Given the description of an element on the screen output the (x, y) to click on. 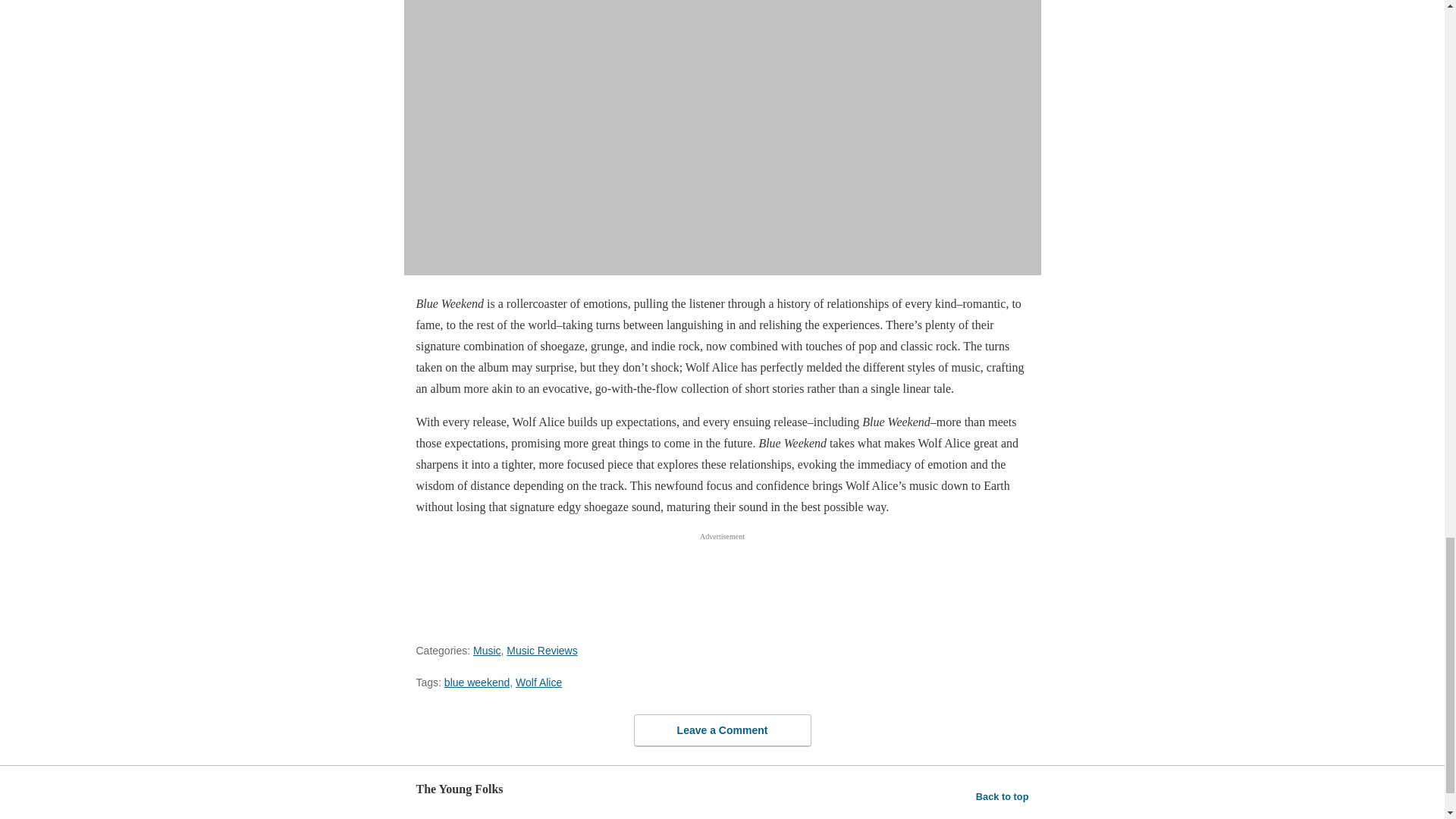
Back to top (1002, 796)
Leave a Comment (721, 730)
Wolf Alice (538, 682)
blue weekend (476, 682)
Music (486, 650)
Music Reviews (541, 650)
